Given the description of an element on the screen output the (x, y) to click on. 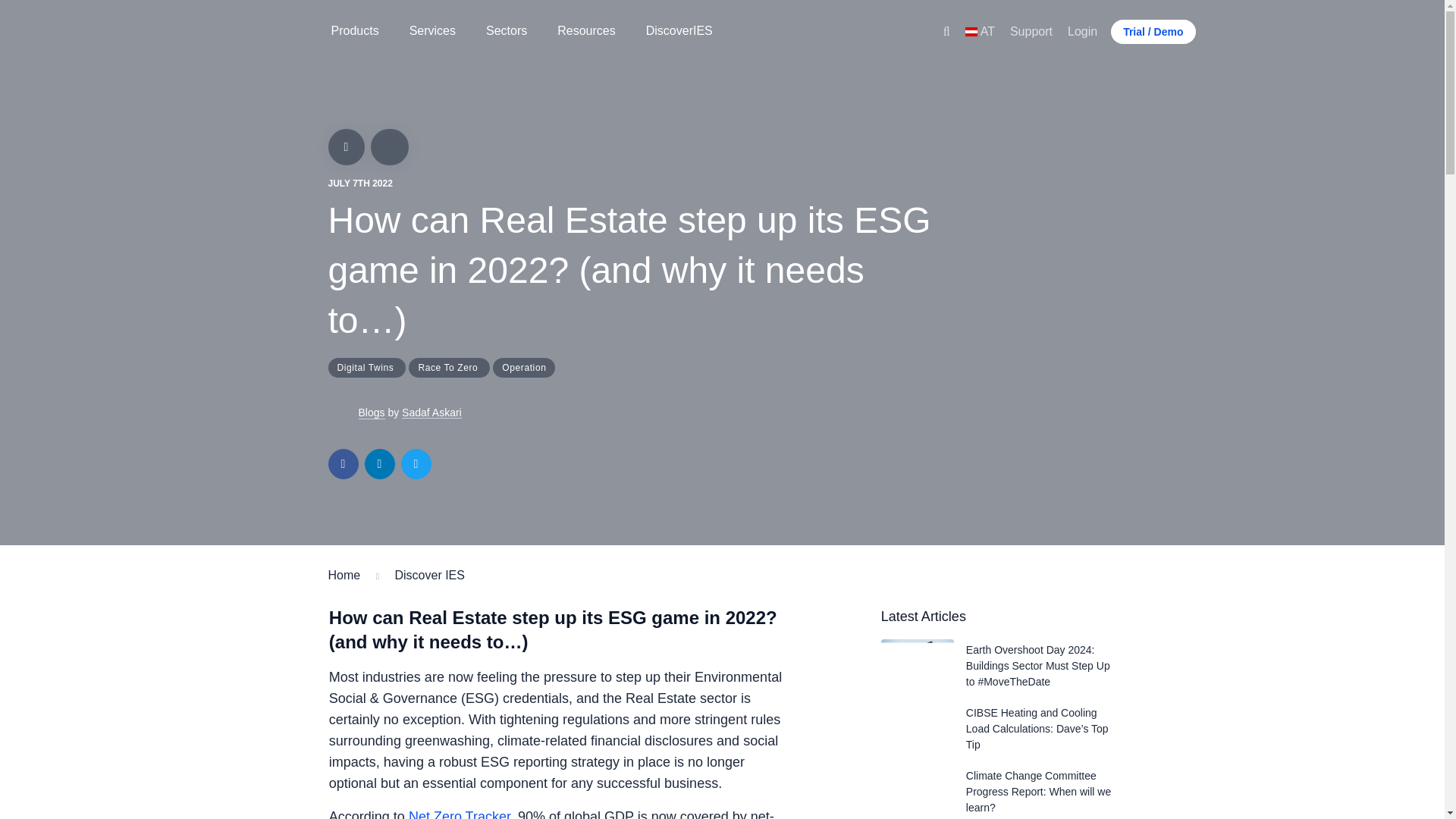
view all items by Sadaf Askari (371, 412)
Services (432, 31)
Products (354, 31)
view all items by Sadaf Askari (431, 412)
view all items by Sadaf Askari (342, 412)
